Given the description of an element on the screen output the (x, y) to click on. 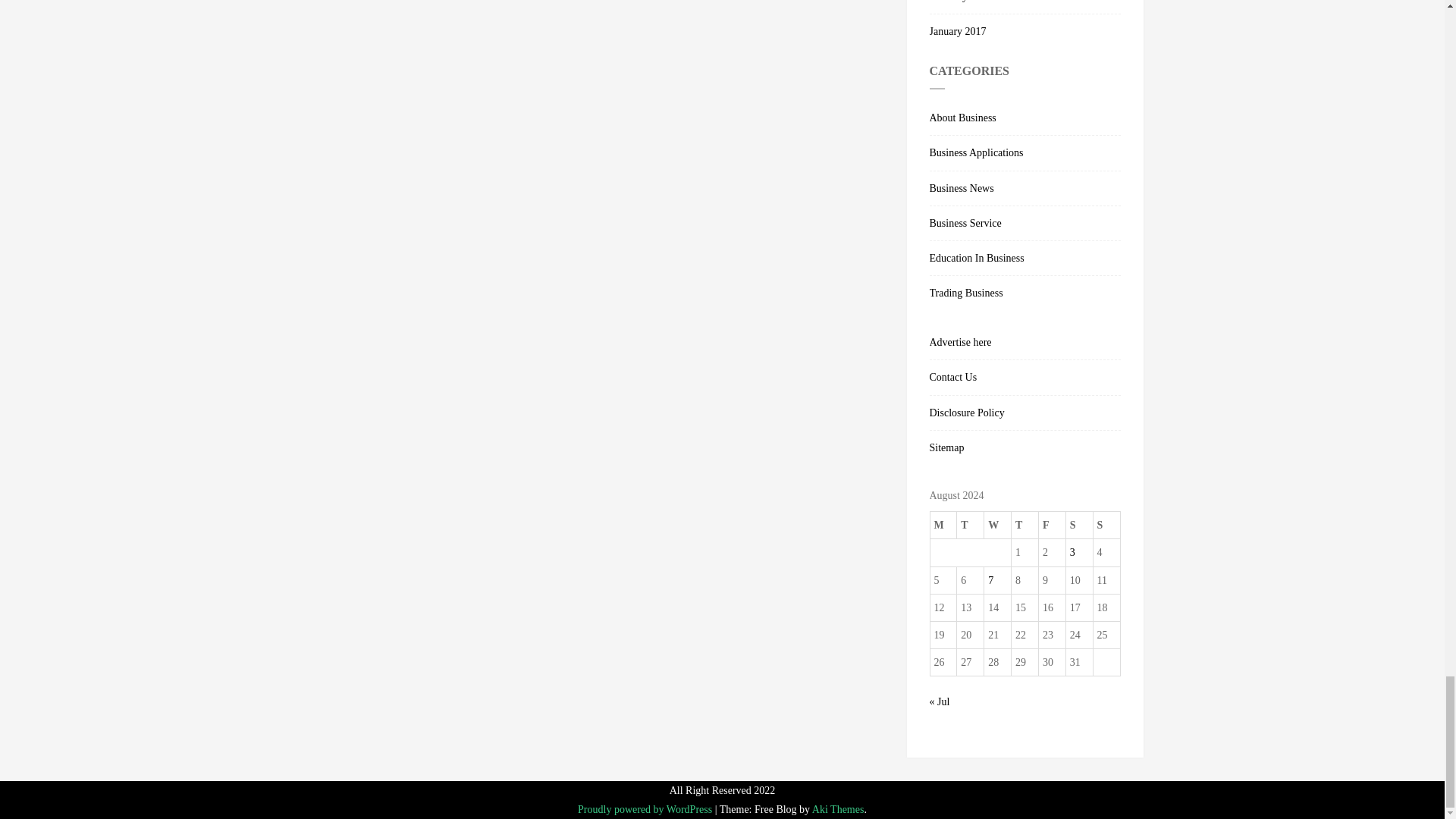
Saturday (1079, 524)
Sunday (1106, 524)
Tuesday (970, 524)
Monday (943, 524)
Wednesday (997, 524)
Friday (1051, 524)
Thursday (1025, 524)
